Given the description of an element on the screen output the (x, y) to click on. 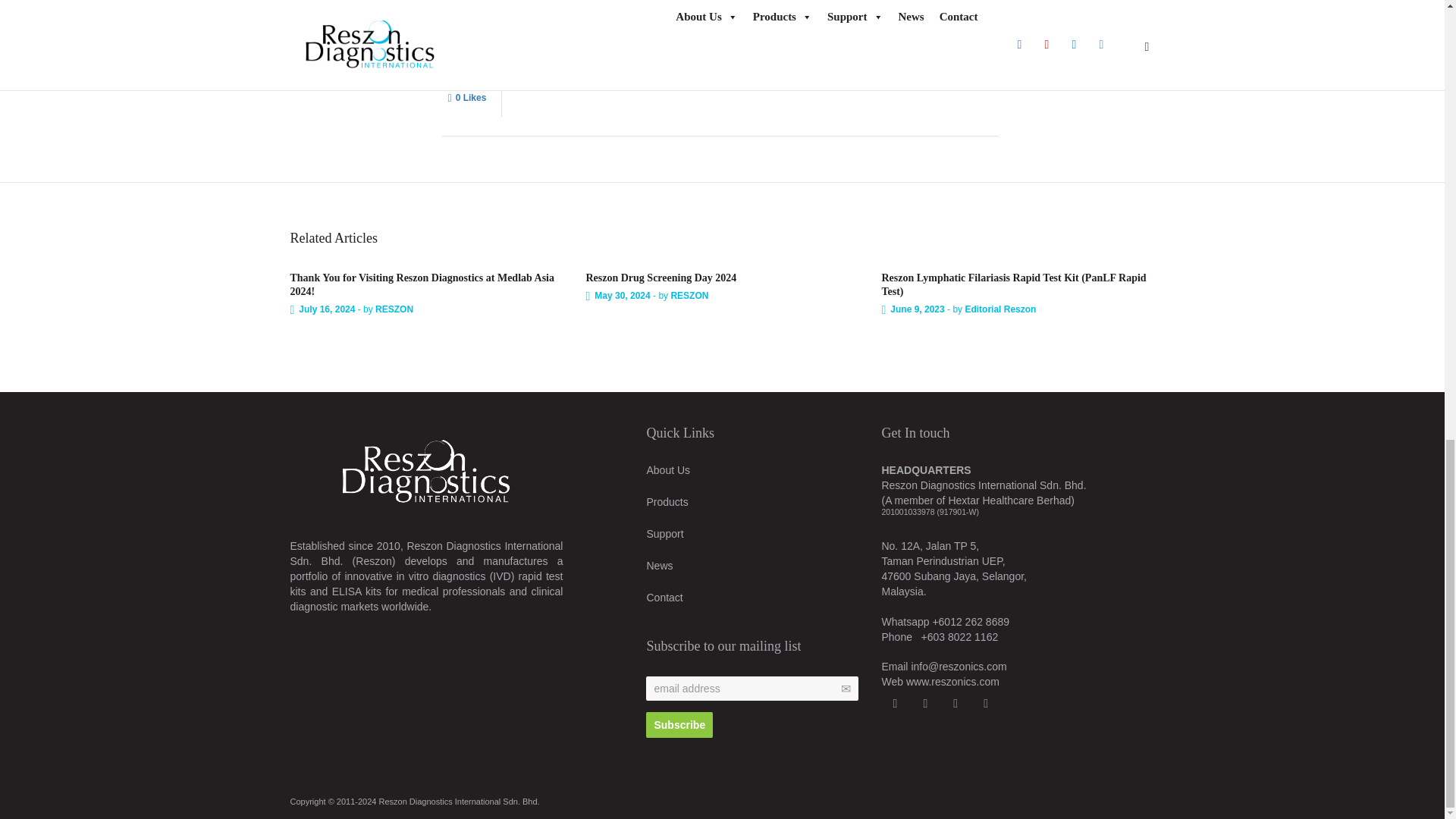
Subscribe (679, 724)
